Given the description of an element on the screen output the (x, y) to click on. 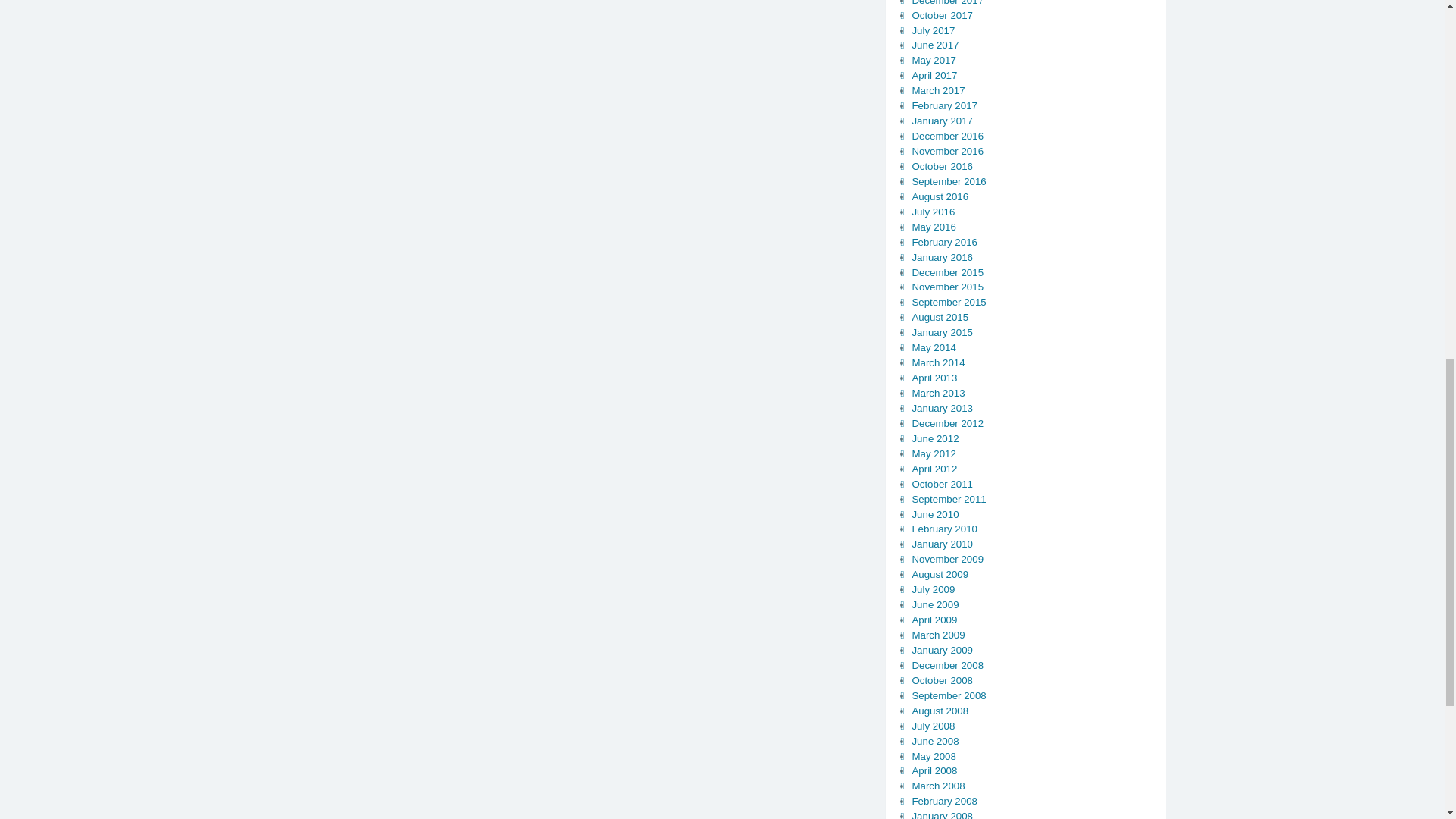
July 2016 (933, 211)
September 2016 (948, 181)
March 2017 (937, 90)
August 2016 (939, 196)
October 2017 (941, 15)
December 2016 (947, 135)
April 2017 (933, 75)
July 2017 (933, 30)
December 2017 (947, 2)
October 2016 (941, 165)
